Given the description of an element on the screen output the (x, y) to click on. 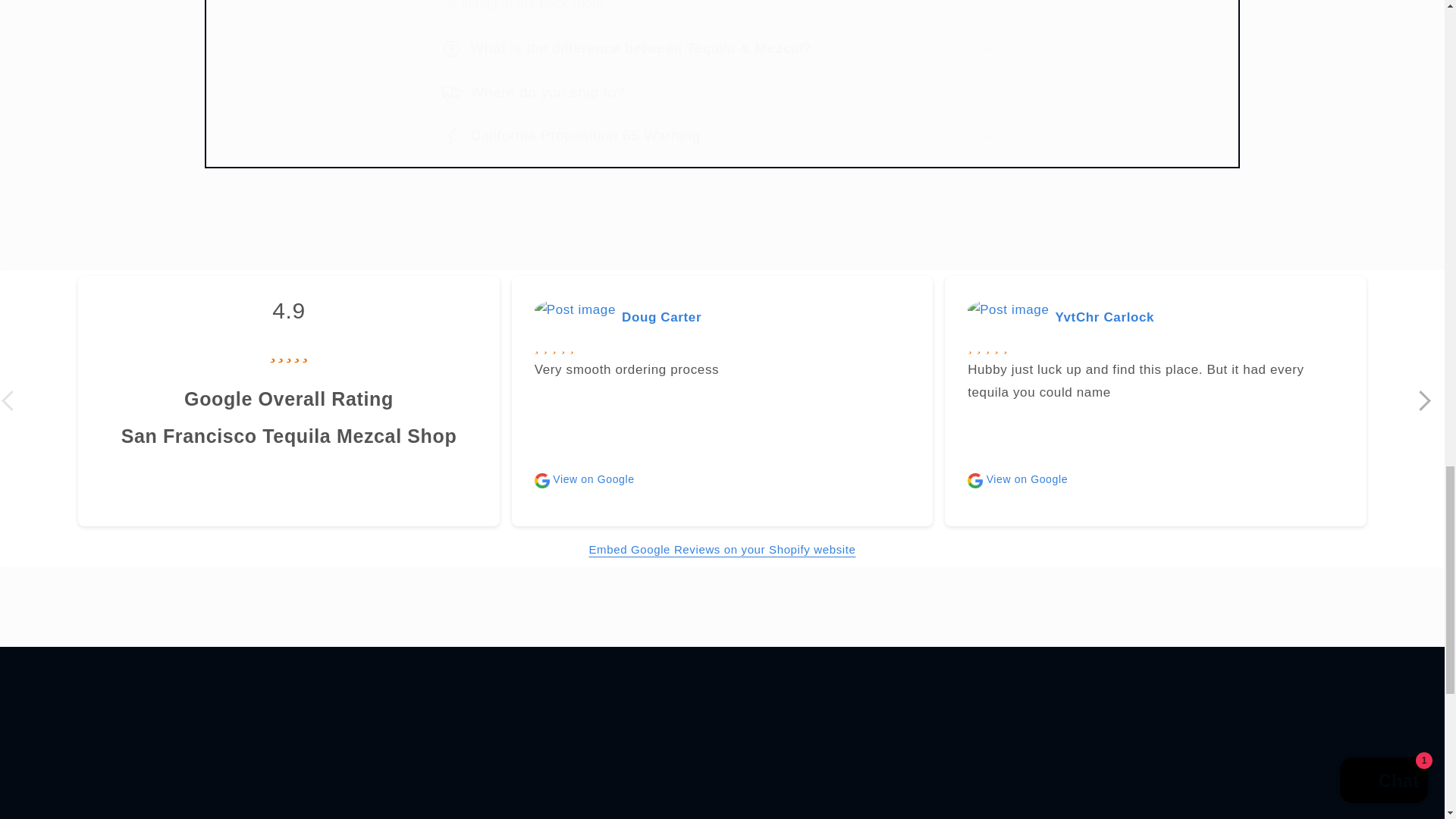
 View on Google (584, 479)
Doug Carter (661, 317)
 View on Google (1017, 479)
YvtChr Carlock (1104, 317)
